Given the description of an element on the screen output the (x, y) to click on. 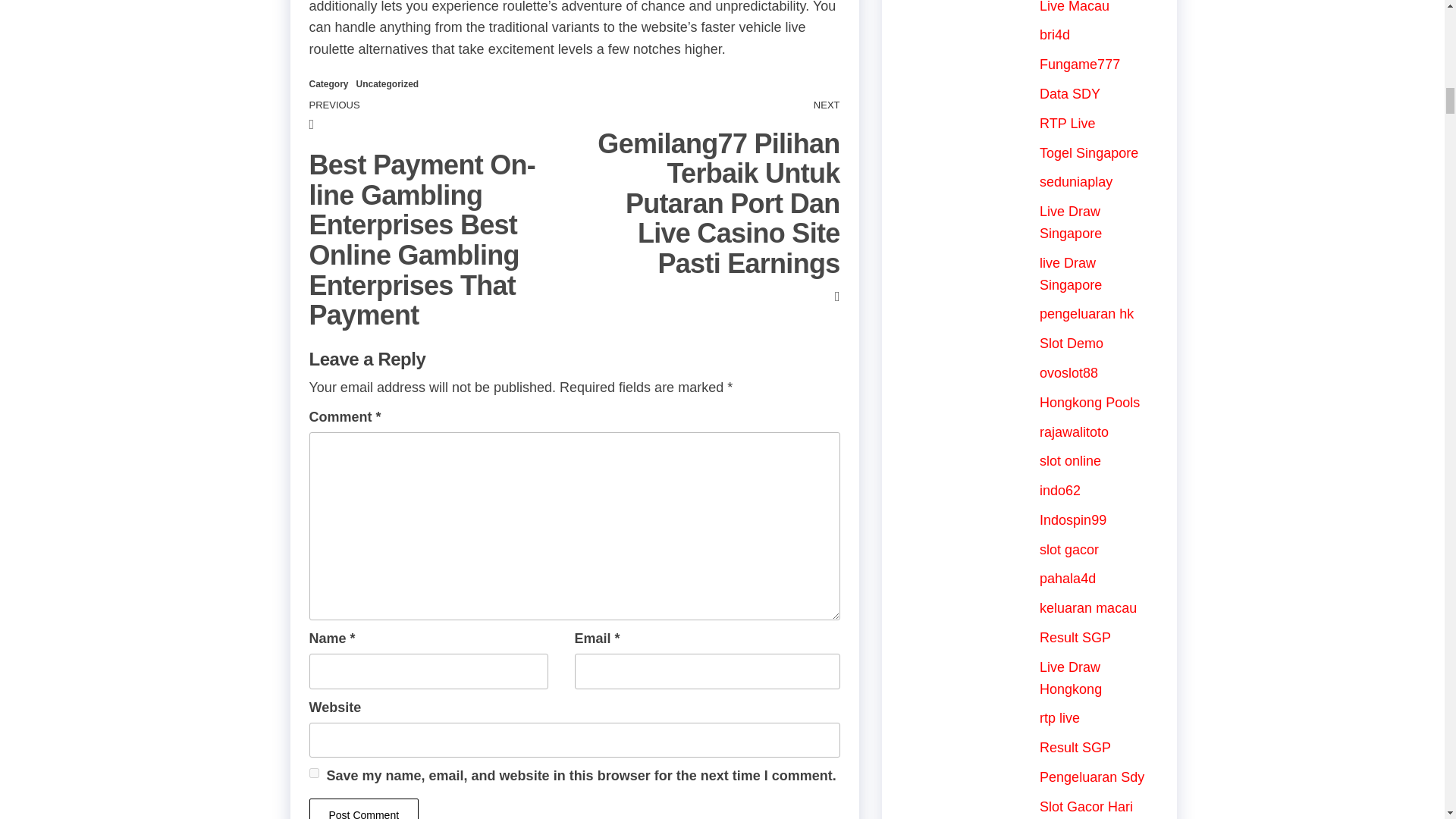
Post Comment (363, 808)
Post Comment (363, 808)
Uncategorized (387, 83)
yes (313, 773)
